Given the description of an element on the screen output the (x, y) to click on. 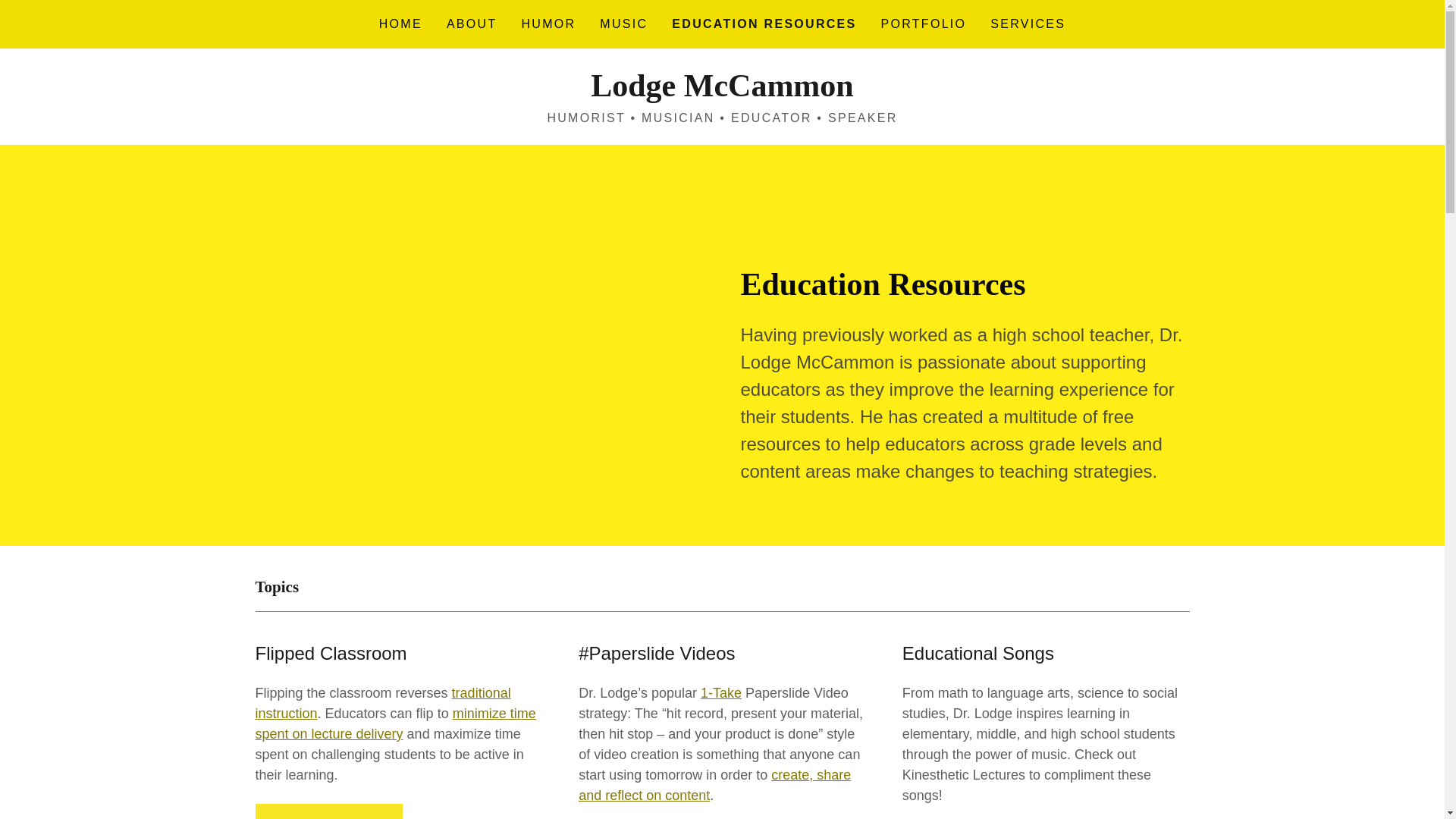
ABOUT (472, 23)
EDUCATION RESOURCES (763, 24)
HUMOR (547, 23)
PORTFOLIO (923, 23)
create, share and reflect on content (714, 785)
minimize time spent on lecture delivery (394, 723)
Lodge McCammon (722, 91)
LEARN MORE (327, 811)
SERVICES (1027, 23)
Lodge McCammon (722, 91)
